Given the description of an element on the screen output the (x, y) to click on. 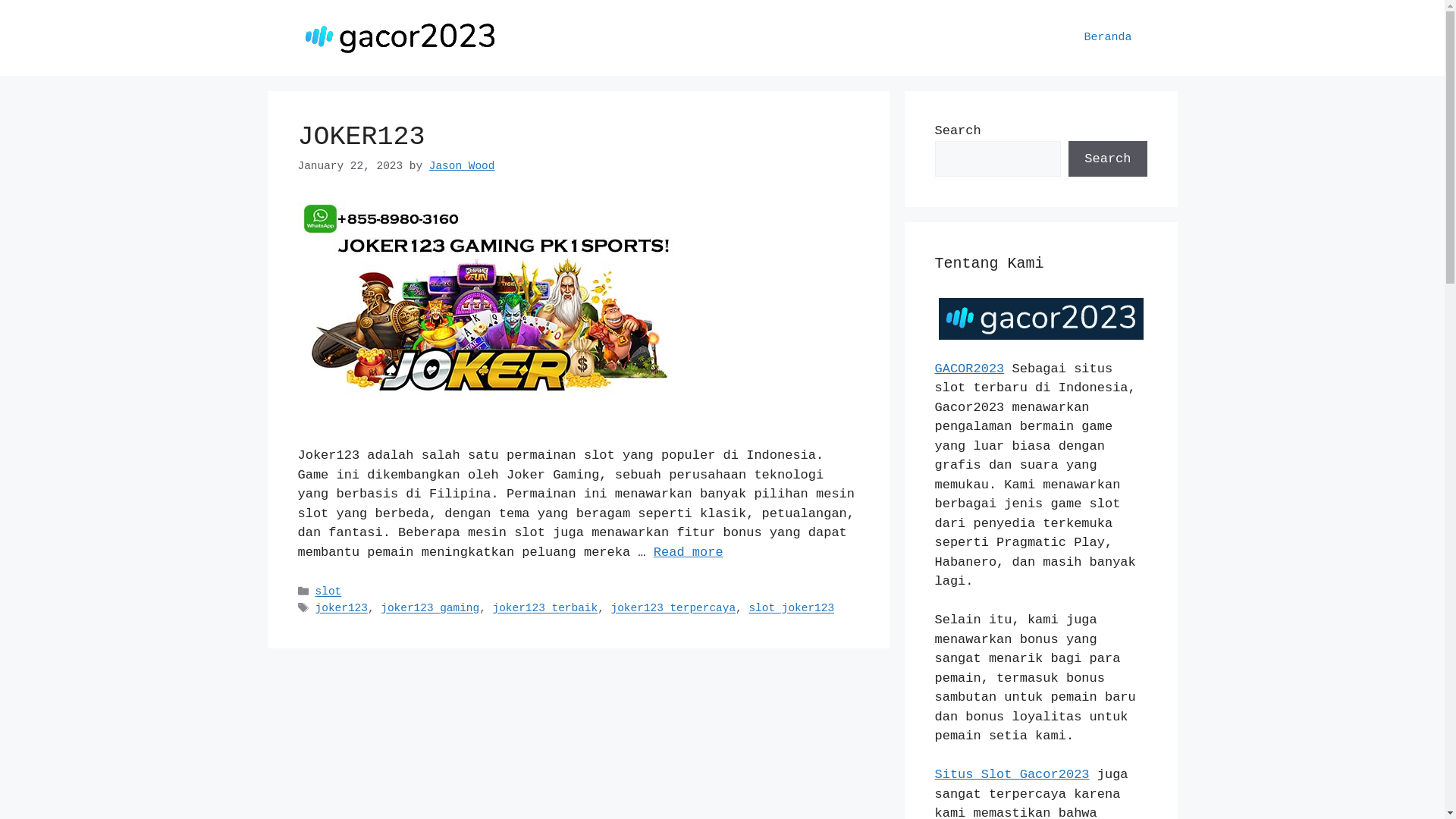
Situs Slot Gacor2023 Element type: text (1011, 774)
Search Element type: text (1107, 159)
joker123 terpercaya Element type: text (672, 608)
Beranda Element type: text (1107, 37)
joker123 gaming Element type: text (429, 608)
Jason Wood Element type: text (462, 166)
GACOR2023 Element type: text (969, 367)
joker123 terbaik Element type: text (545, 608)
slot joker123 Element type: text (791, 608)
joker123 Element type: text (341, 608)
Read more Element type: text (688, 552)
slot Element type: text (328, 592)
JOKER123 Element type: text (360, 137)
